Given the description of an element on the screen output the (x, y) to click on. 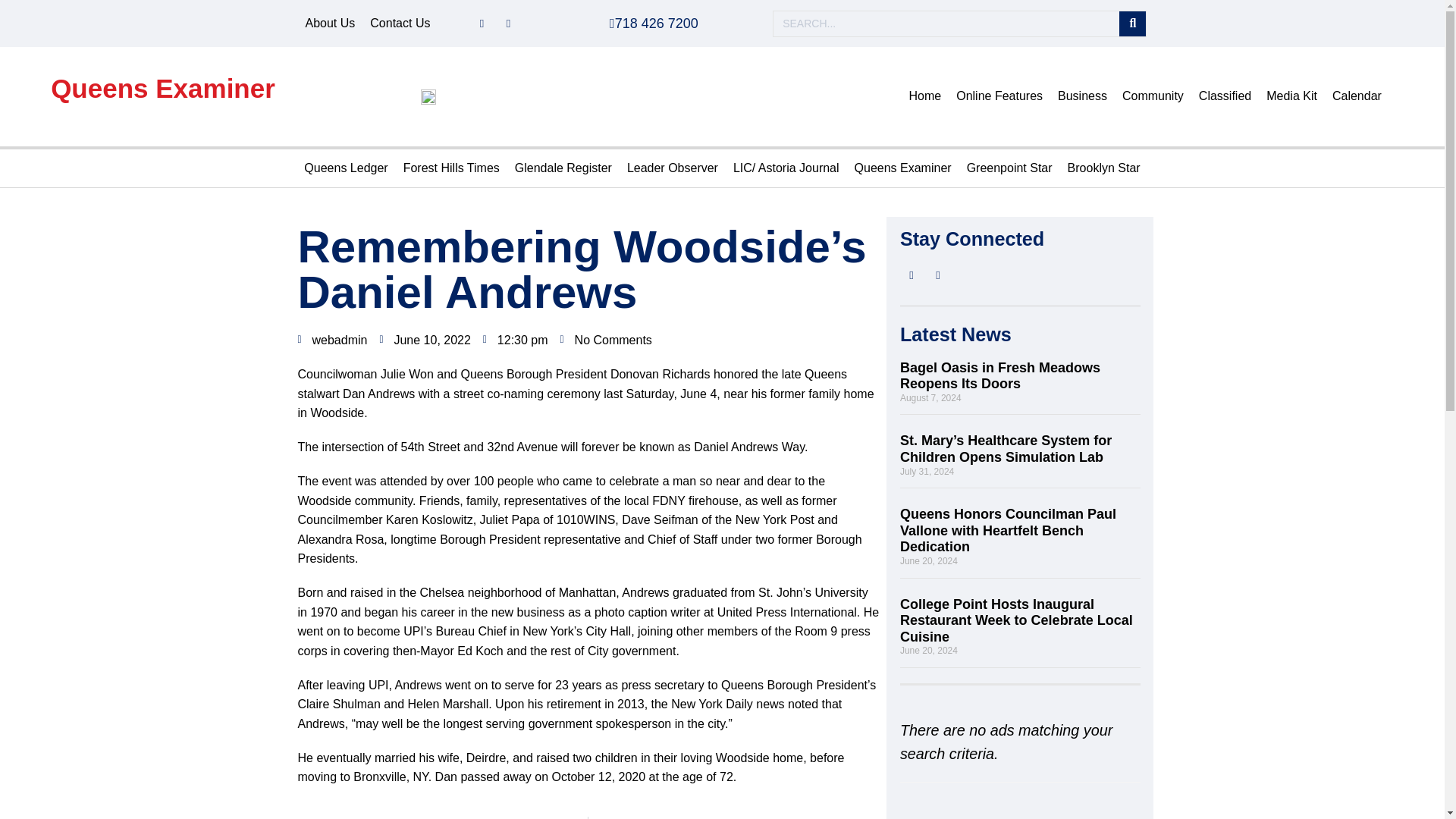
Community (1153, 96)
Home (925, 96)
Online Features (999, 96)
Business (1082, 96)
About Us (329, 23)
Queens Examiner (162, 88)
Contact Us (400, 23)
718 426 7200 (653, 23)
